Given the description of an element on the screen output the (x, y) to click on. 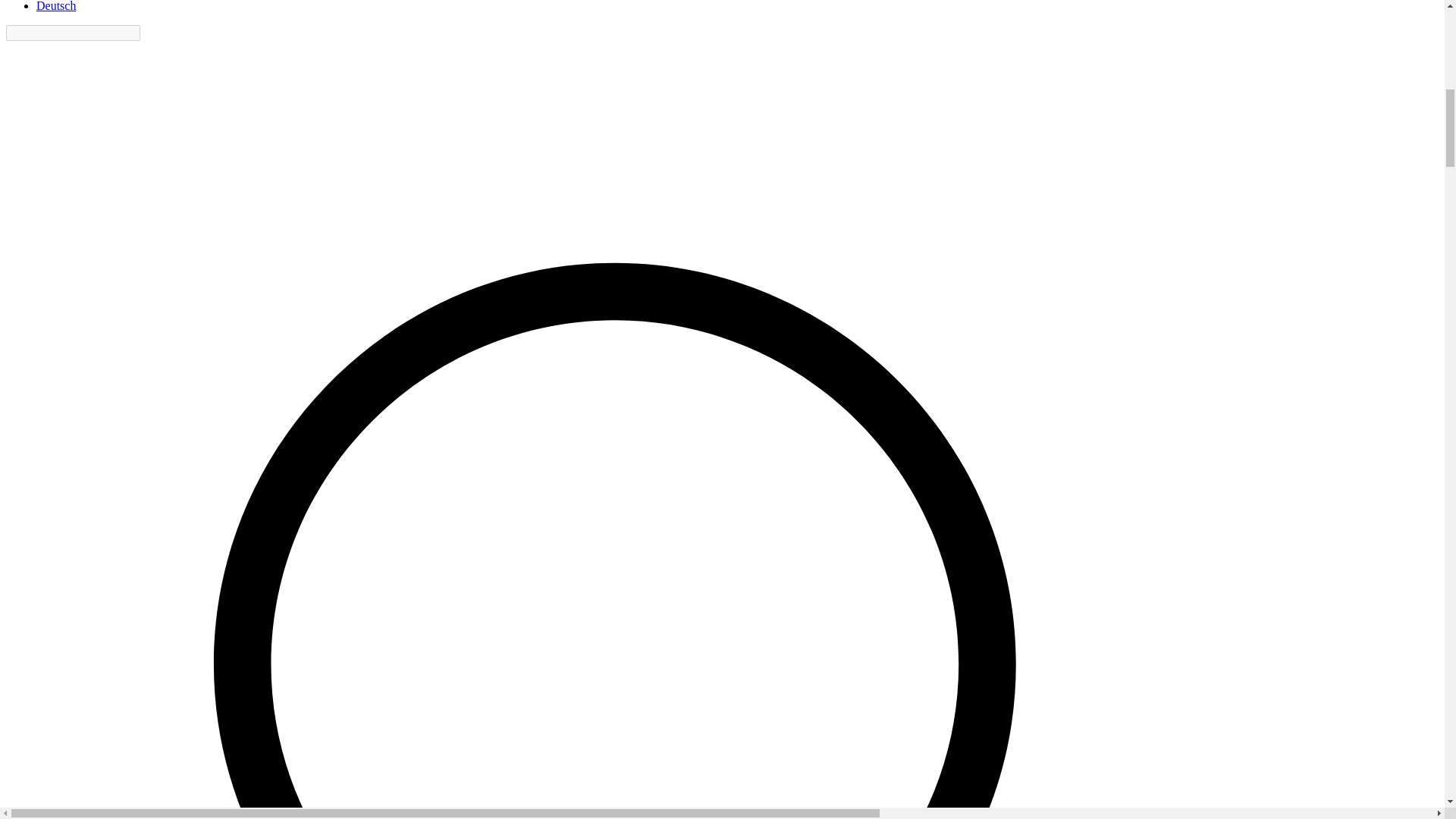
Deutsch (55, 6)
